Given the description of an element on the screen output the (x, y) to click on. 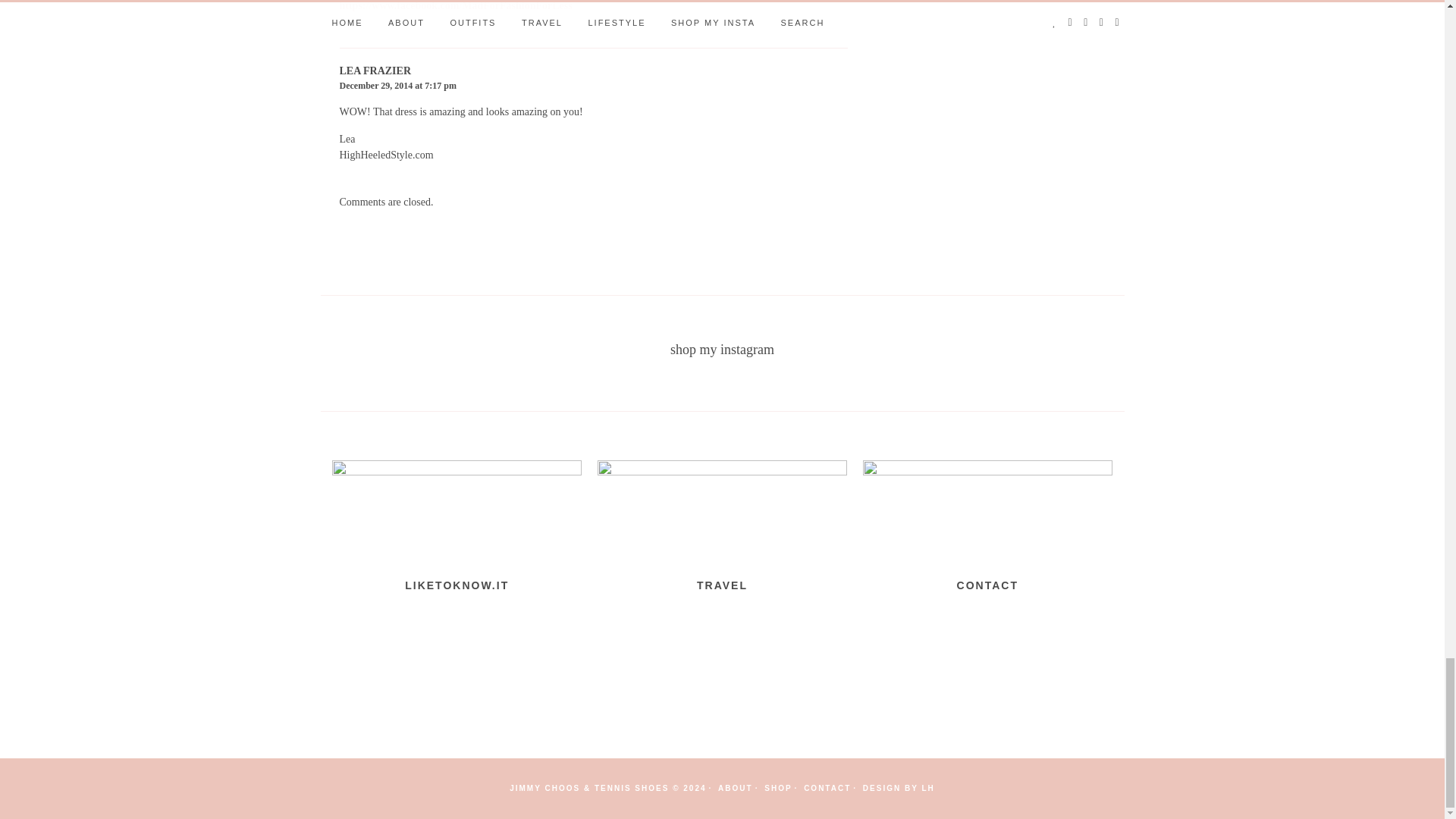
Lindsay Humes (927, 787)
